Given the description of an element on the screen output the (x, y) to click on. 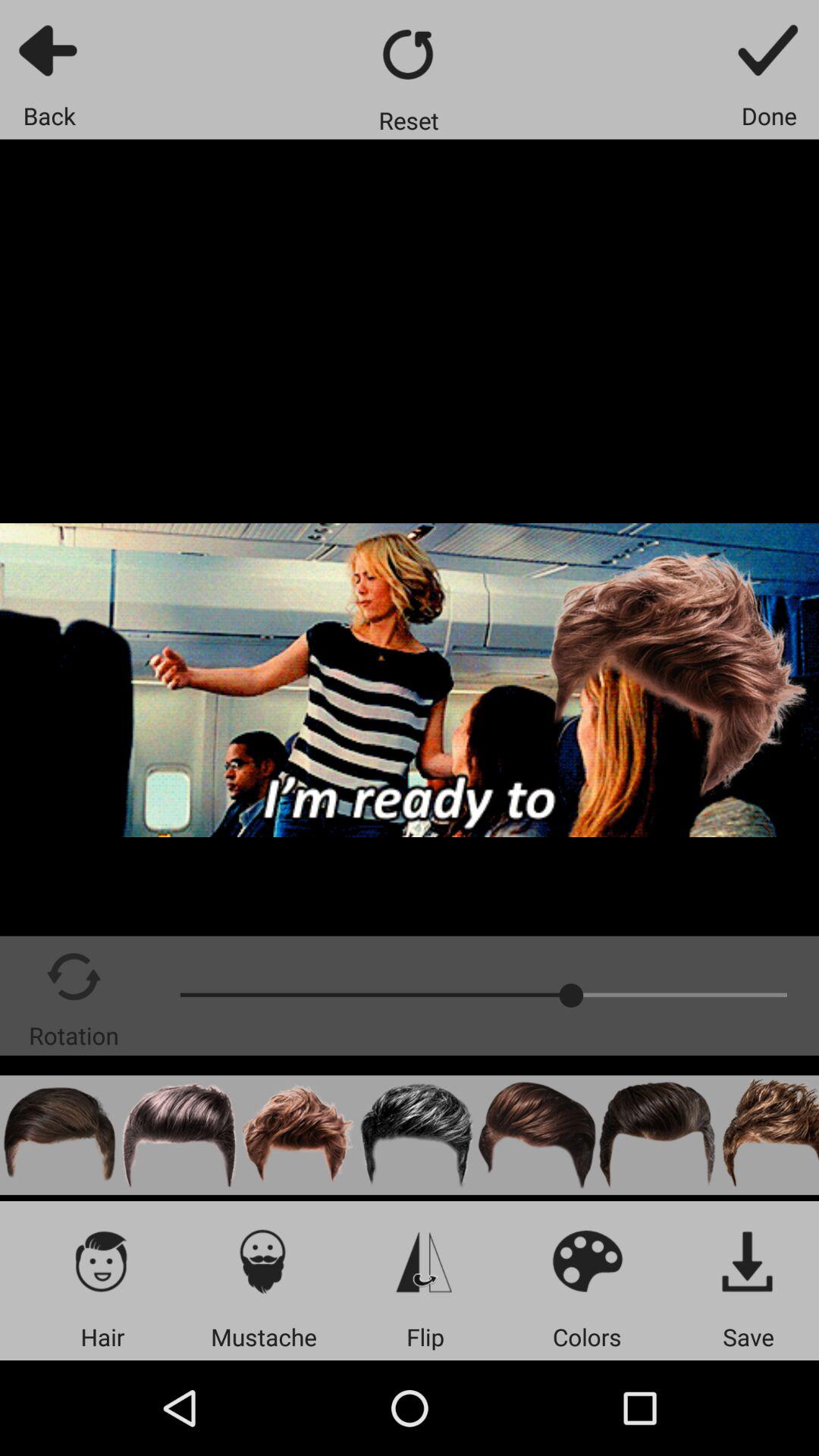
turn on icon above the mustache item (263, 1260)
